Given the description of an element on the screen output the (x, y) to click on. 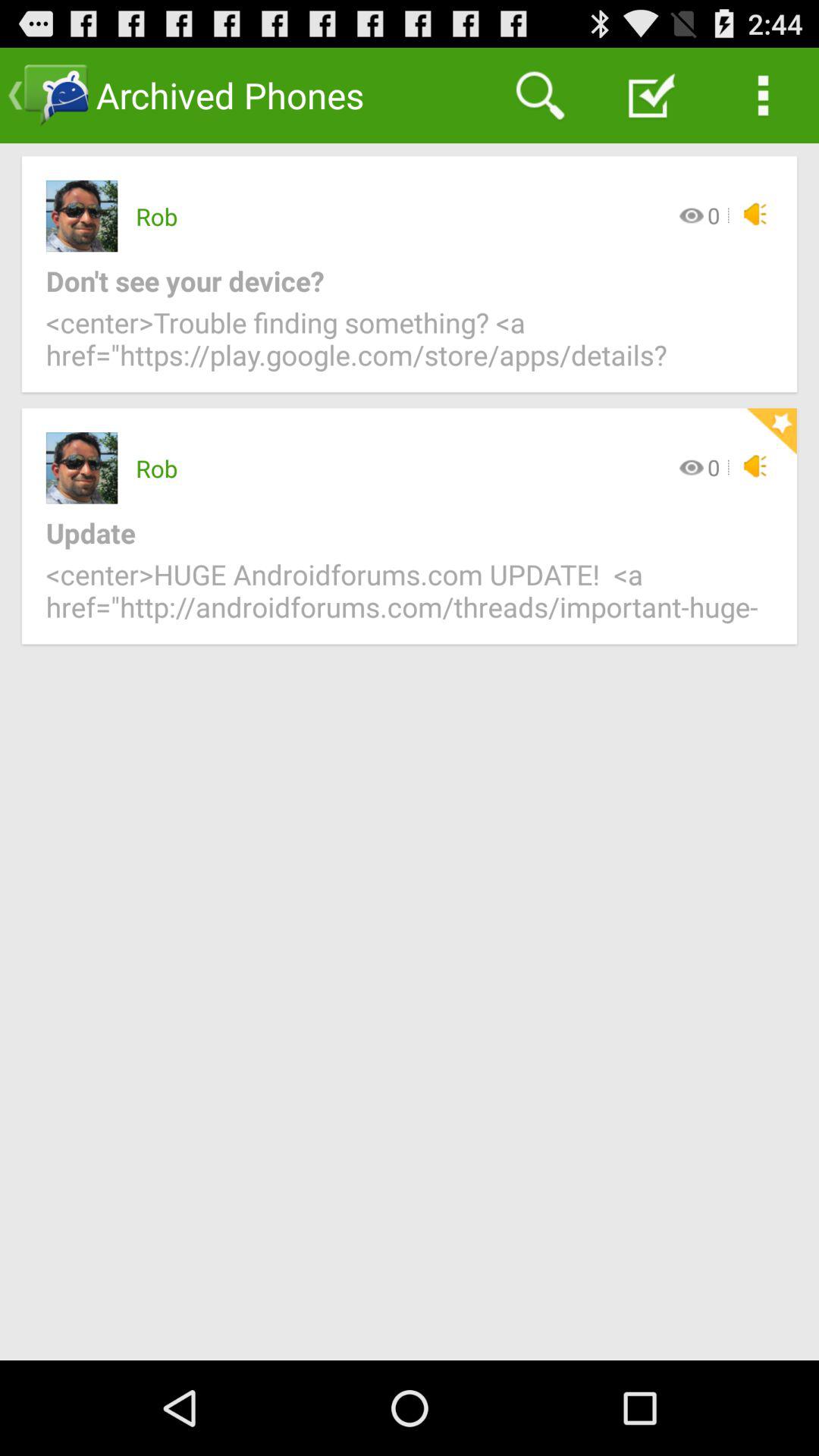
turn on the icon above update icon (771, 431)
